Given the description of an element on the screen output the (x, y) to click on. 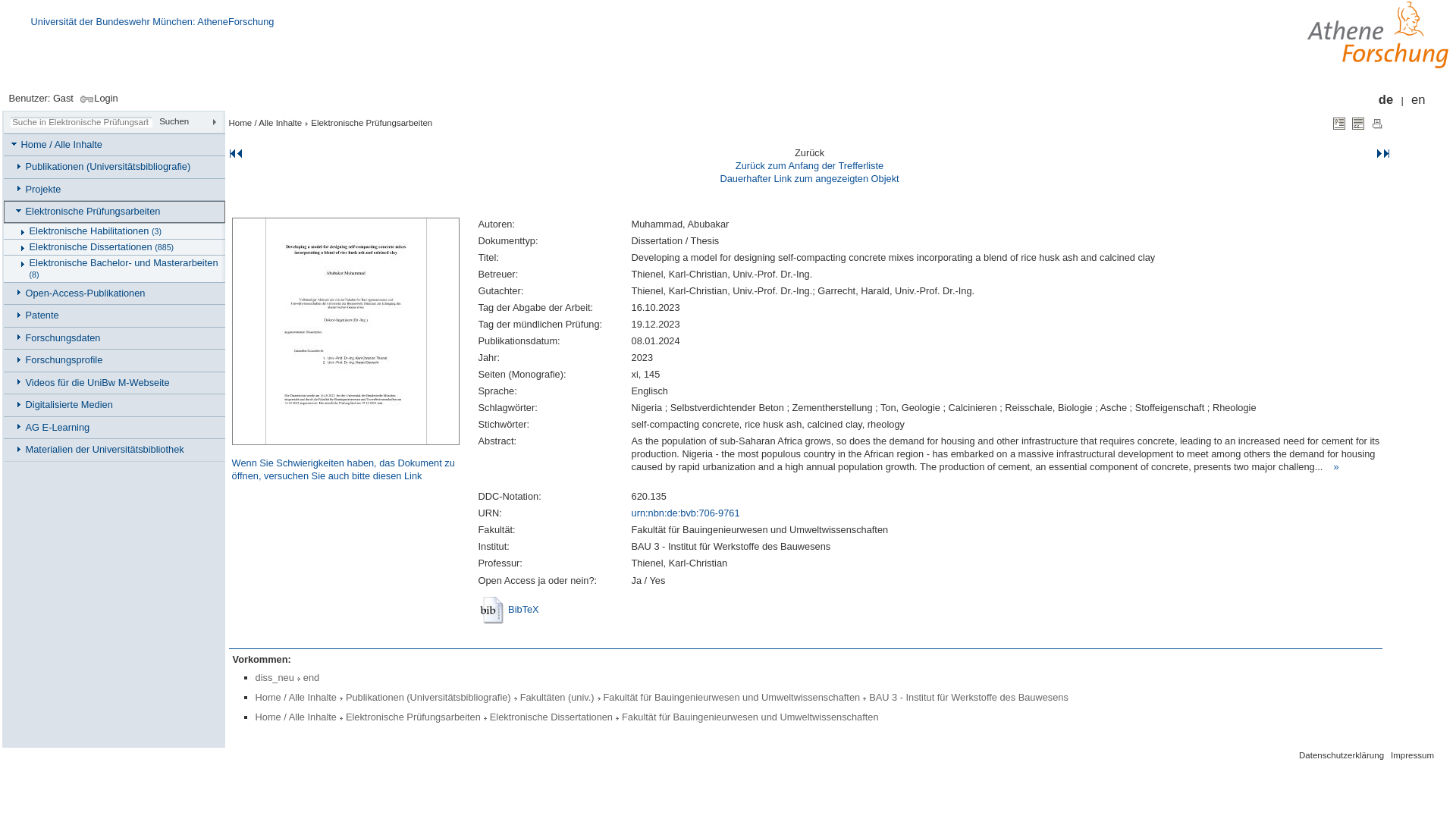
Forschungsdaten (116, 338)
de (1385, 99)
Dokument-Ansicht (1339, 122)
Open-Access-Publikationen (116, 293)
Anmelden (96, 98)
Suchen (191, 121)
 Login (96, 98)
Patente (116, 315)
Suchen (191, 121)
Projekte (116, 189)
